Given the description of an element on the screen output the (x, y) to click on. 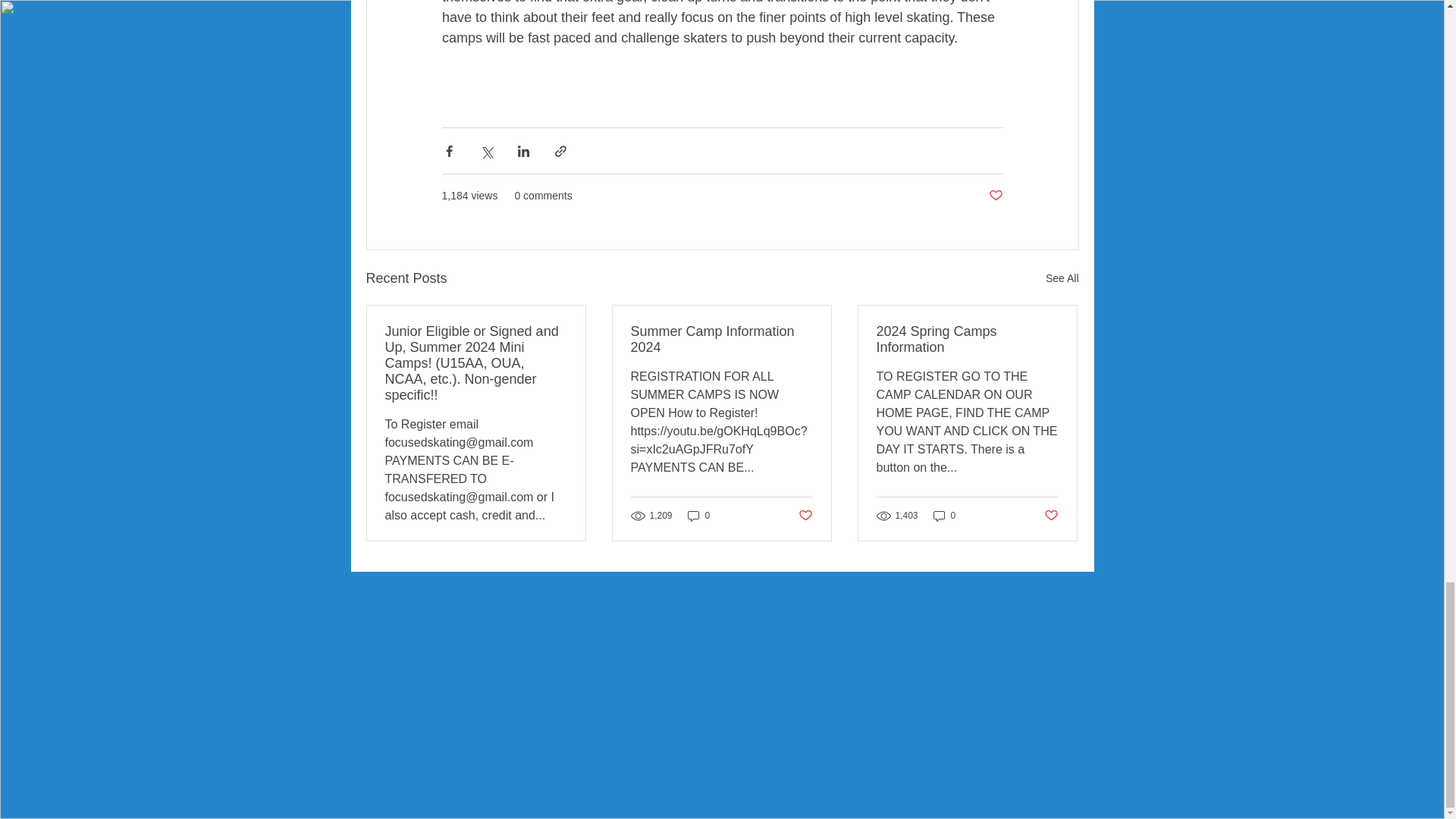
0 (944, 515)
See All (1061, 278)
2024 Spring Camps Information (967, 339)
Post not marked as liked (1050, 514)
Summer Camp Information 2024 (721, 339)
0 (698, 515)
Post not marked as liked (804, 514)
Post not marked as liked (995, 195)
